Given the description of an element on the screen output the (x, y) to click on. 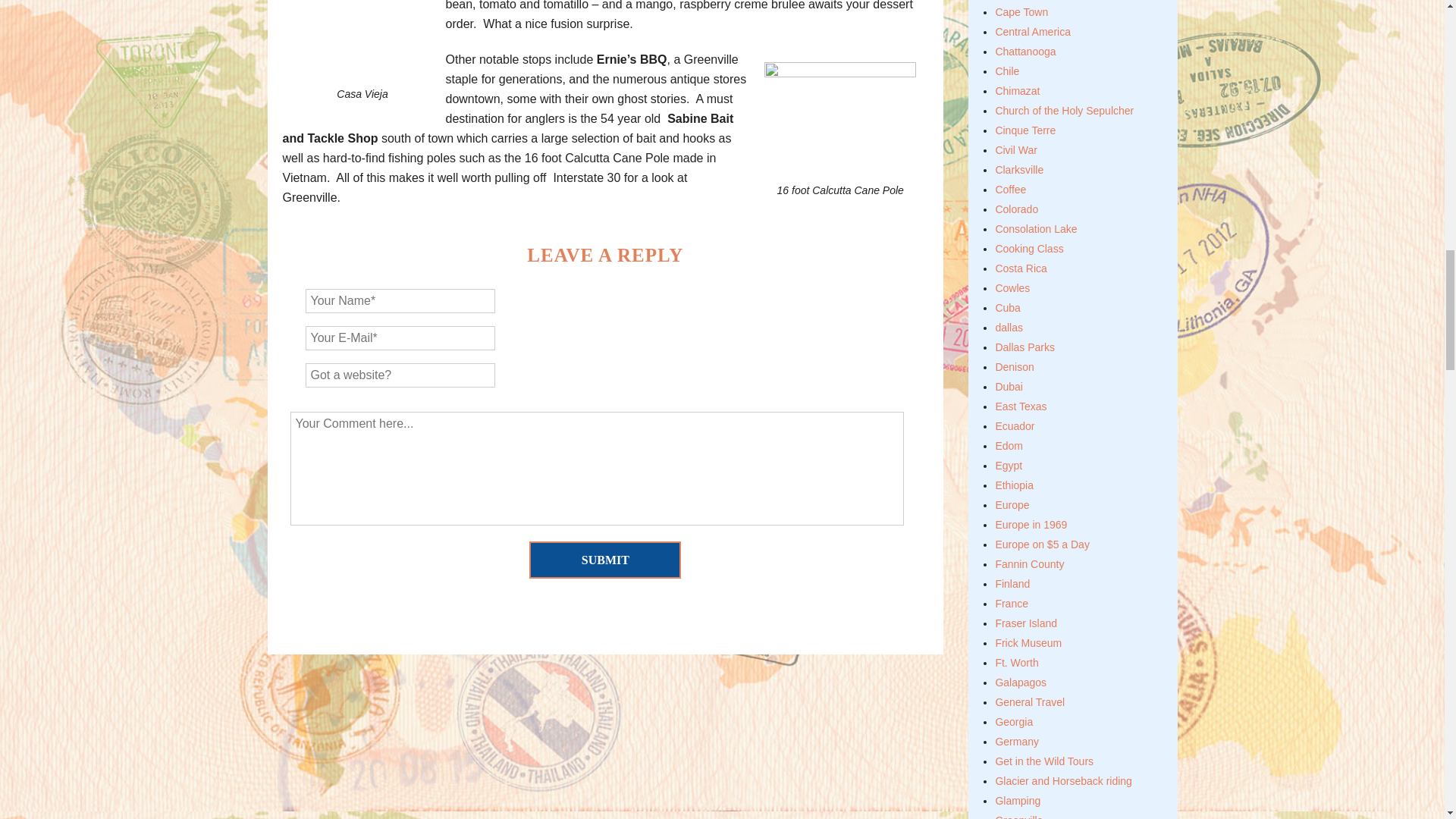
Submit (605, 559)
Submit (605, 559)
